Given the description of an element on the screen output the (x, y) to click on. 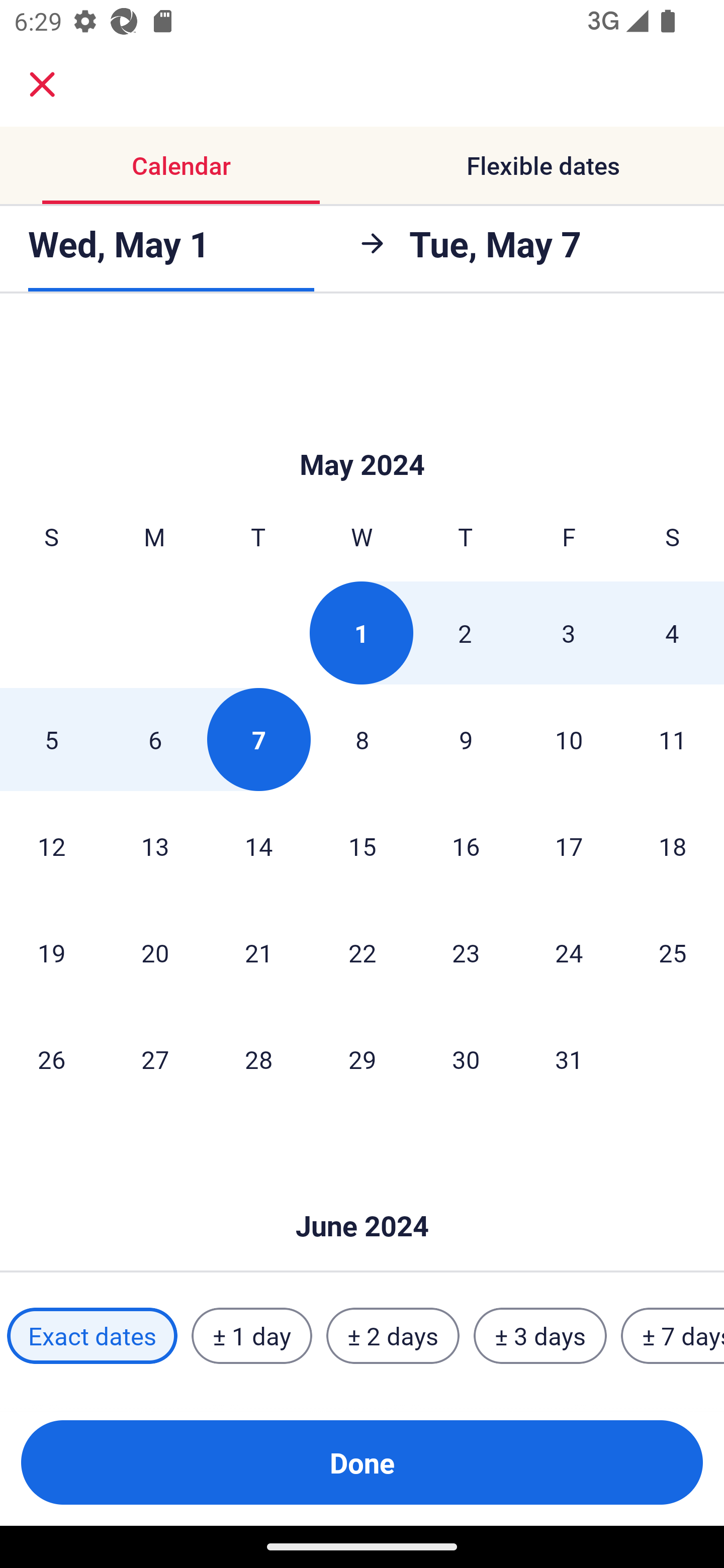
close. (42, 84)
Flexible dates (542, 164)
Skip to Done (362, 434)
8 Wednesday, May 8, 2024 (362, 739)
9 Thursday, May 9, 2024 (465, 739)
10 Friday, May 10, 2024 (569, 739)
11 Saturday, May 11, 2024 (672, 739)
12 Sunday, May 12, 2024 (51, 845)
13 Monday, May 13, 2024 (155, 845)
14 Tuesday, May 14, 2024 (258, 845)
15 Wednesday, May 15, 2024 (362, 845)
16 Thursday, May 16, 2024 (465, 845)
17 Friday, May 17, 2024 (569, 845)
18 Saturday, May 18, 2024 (672, 845)
19 Sunday, May 19, 2024 (51, 952)
20 Monday, May 20, 2024 (155, 952)
21 Tuesday, May 21, 2024 (258, 952)
22 Wednesday, May 22, 2024 (362, 952)
23 Thursday, May 23, 2024 (465, 952)
24 Friday, May 24, 2024 (569, 952)
25 Saturday, May 25, 2024 (672, 952)
26 Sunday, May 26, 2024 (51, 1059)
27 Monday, May 27, 2024 (155, 1059)
28 Tuesday, May 28, 2024 (258, 1059)
29 Wednesday, May 29, 2024 (362, 1059)
30 Thursday, May 30, 2024 (465, 1059)
31 Friday, May 31, 2024 (569, 1059)
Skip to Done (362, 1196)
Exact dates (92, 1335)
± 1 day (251, 1335)
± 2 days (392, 1335)
± 3 days (539, 1335)
± 7 days (672, 1335)
Done (361, 1462)
